Given the description of an element on the screen output the (x, y) to click on. 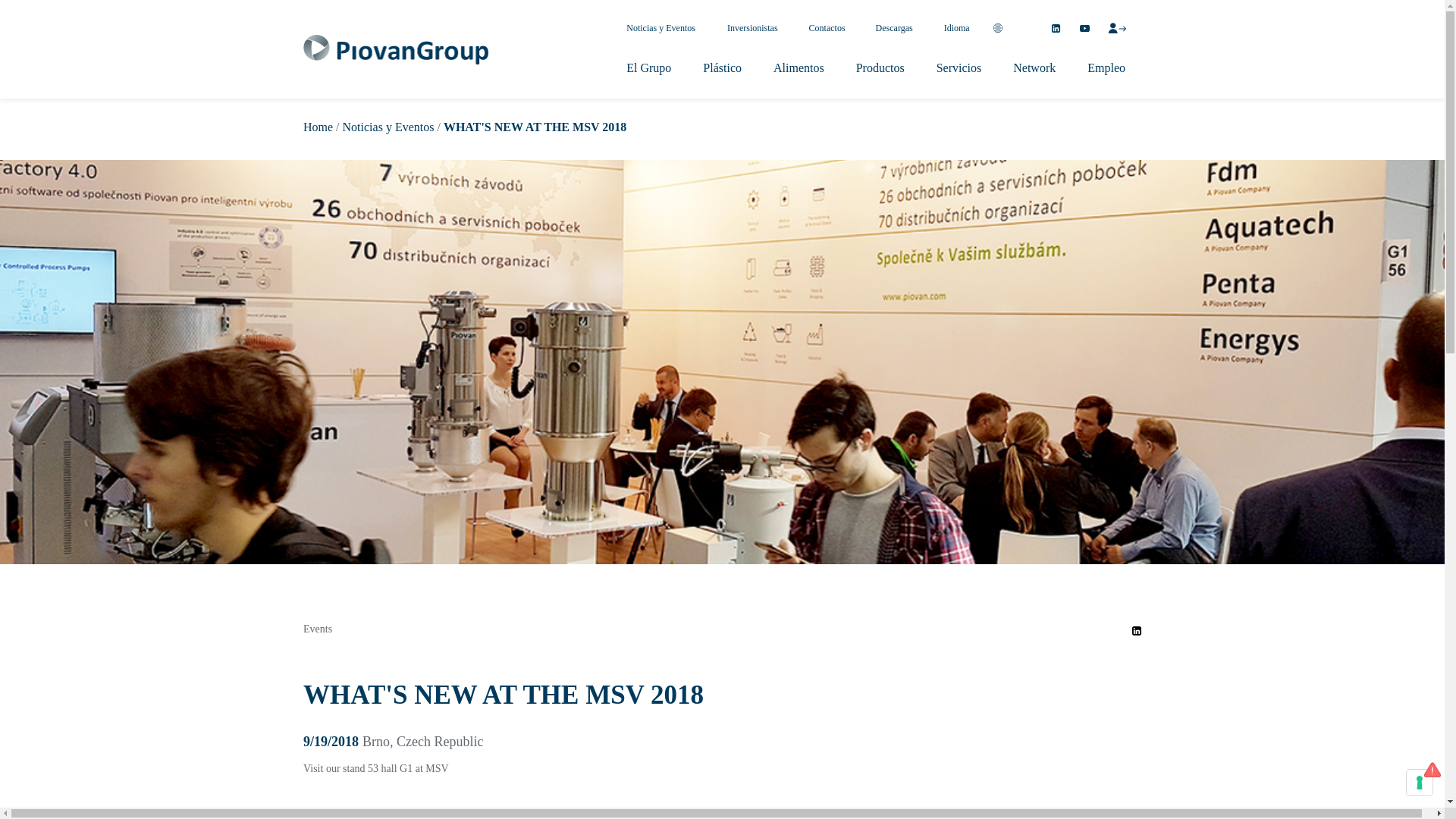
Inversionistas (752, 28)
Contactos (826, 28)
El Grupo (648, 67)
Noticias y Eventos (660, 28)
Idioma (956, 28)
Descargas (894, 28)
